Given the description of an element on the screen output the (x, y) to click on. 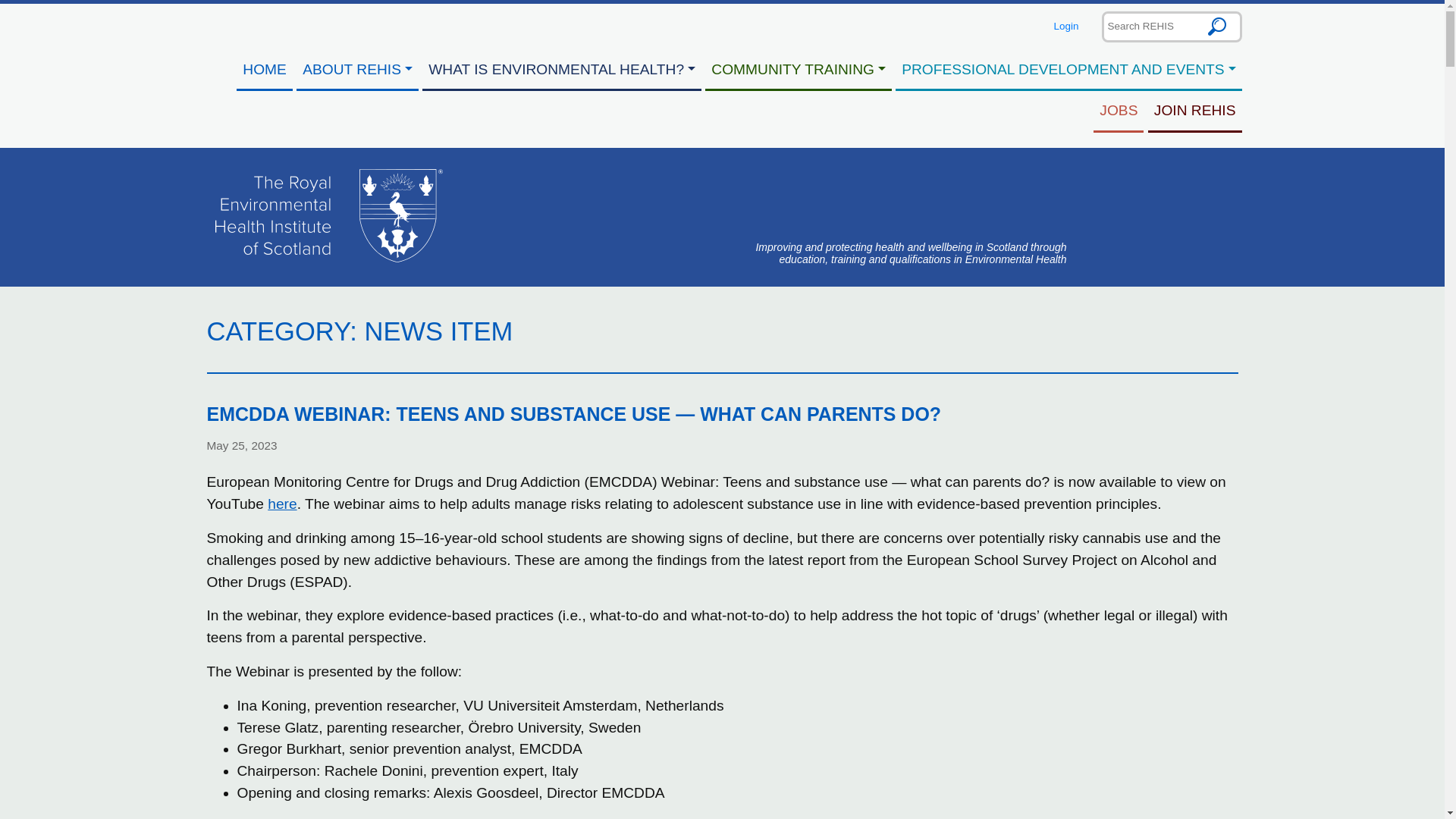
PROFESSIONAL DEVELOPMENT AND EVENTS (1068, 70)
ABOUT REHIS (358, 70)
Home (263, 70)
Login (1066, 26)
Search (1217, 26)
HOME (263, 70)
Search (1217, 26)
JOBS (1117, 111)
What is Environmental Health? (561, 70)
About REHIS (358, 70)
COMMUNITY TRAINING (797, 70)
Search REHIS (1170, 26)
WHAT IS ENVIRONMENTAL HEALTH? (561, 70)
